Given the description of an element on the screen output the (x, y) to click on. 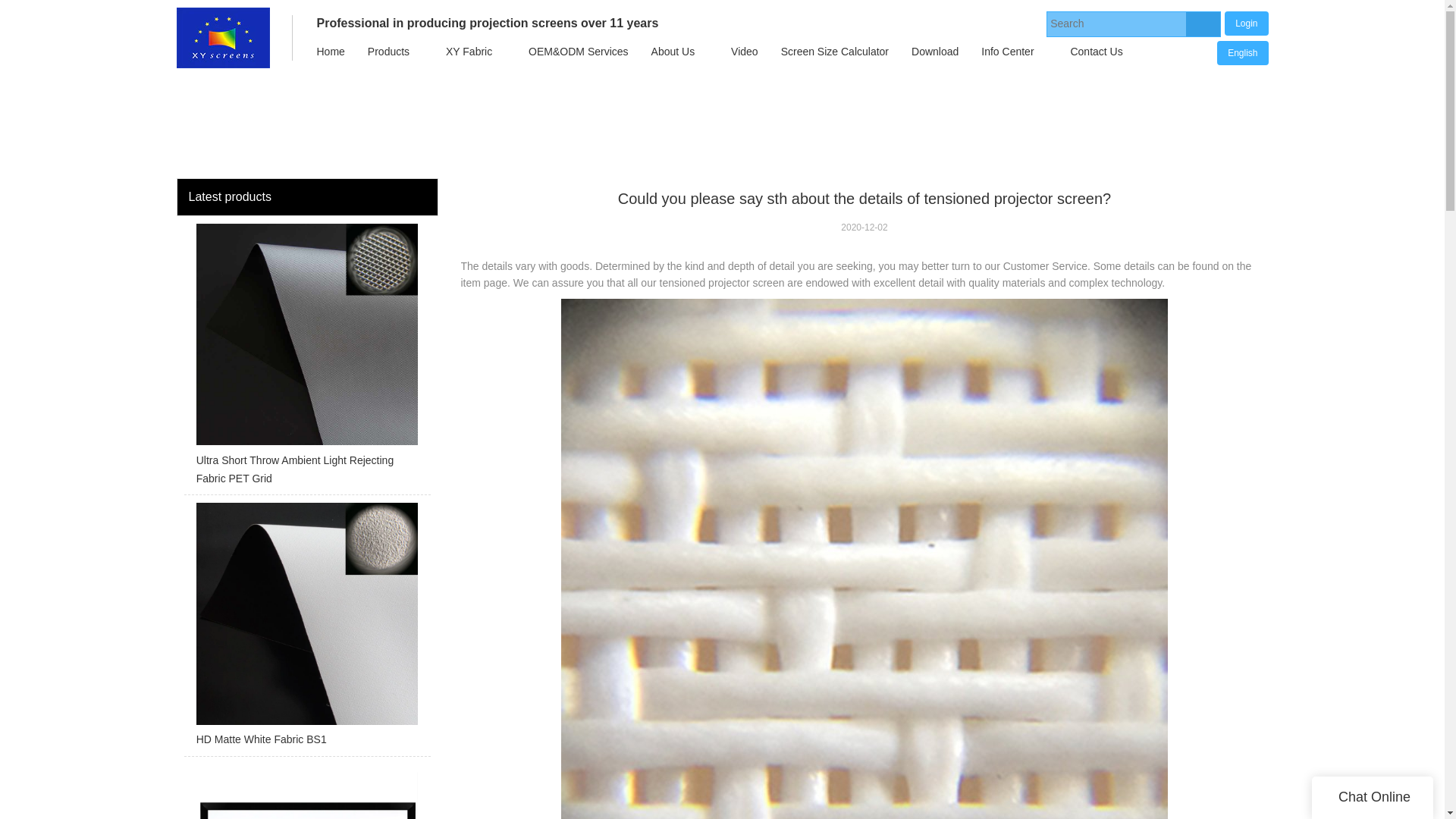
Video (744, 51)
Home (329, 51)
Products (388, 51)
Screen Size Calculator (834, 51)
Login (1245, 23)
About Us (673, 51)
XY Fabric (468, 51)
